Given the description of an element on the screen output the (x, y) to click on. 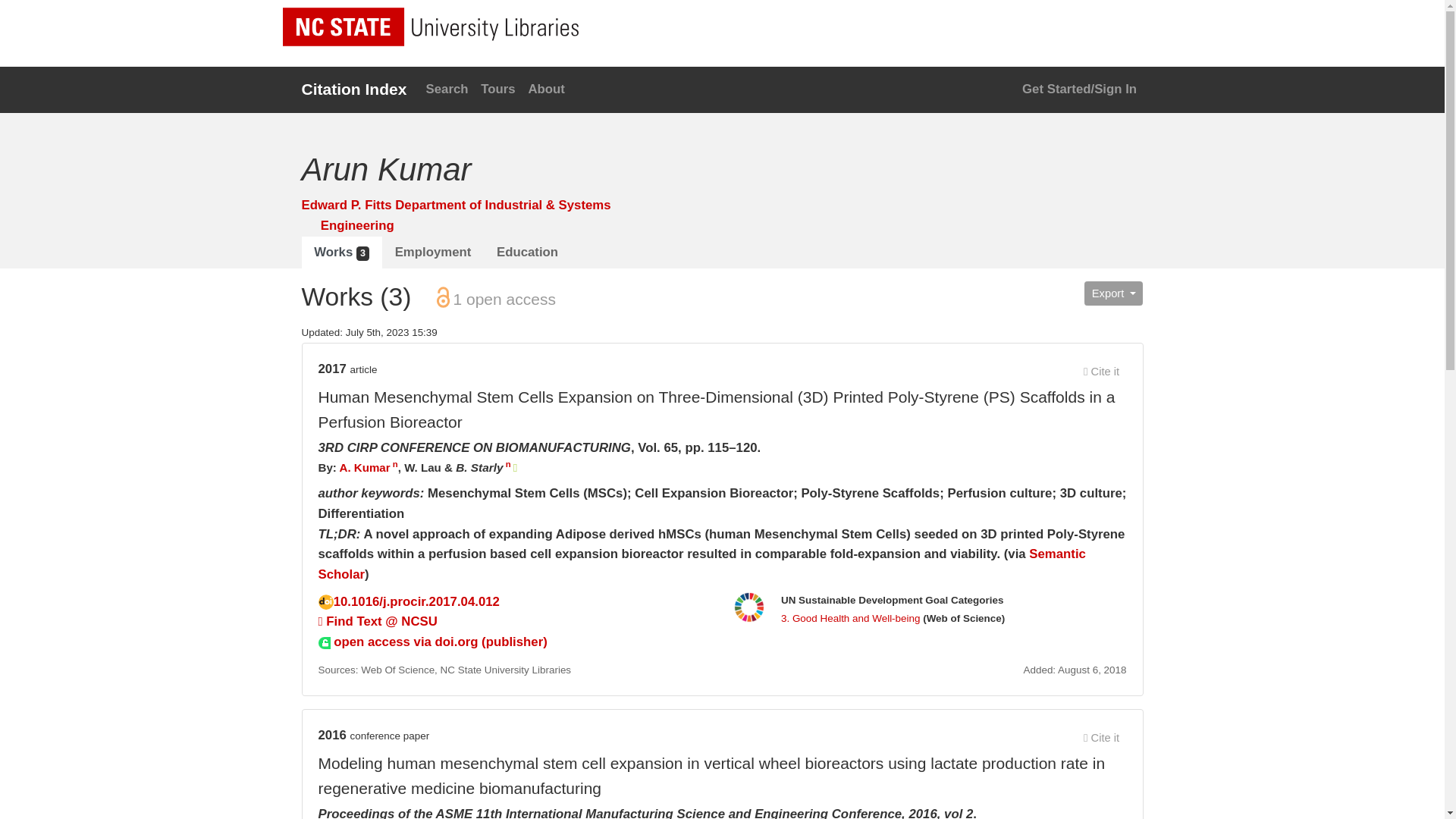
3. Good Health and Well-being (850, 618)
About (545, 89)
Search (446, 89)
Citation Index (354, 89)
Export (1113, 293)
Works 3 (341, 253)
Employment (432, 253)
Tours (497, 89)
Cite it (1101, 371)
Search for works related to SDG 3 (850, 618)
